Given the description of an element on the screen output the (x, y) to click on. 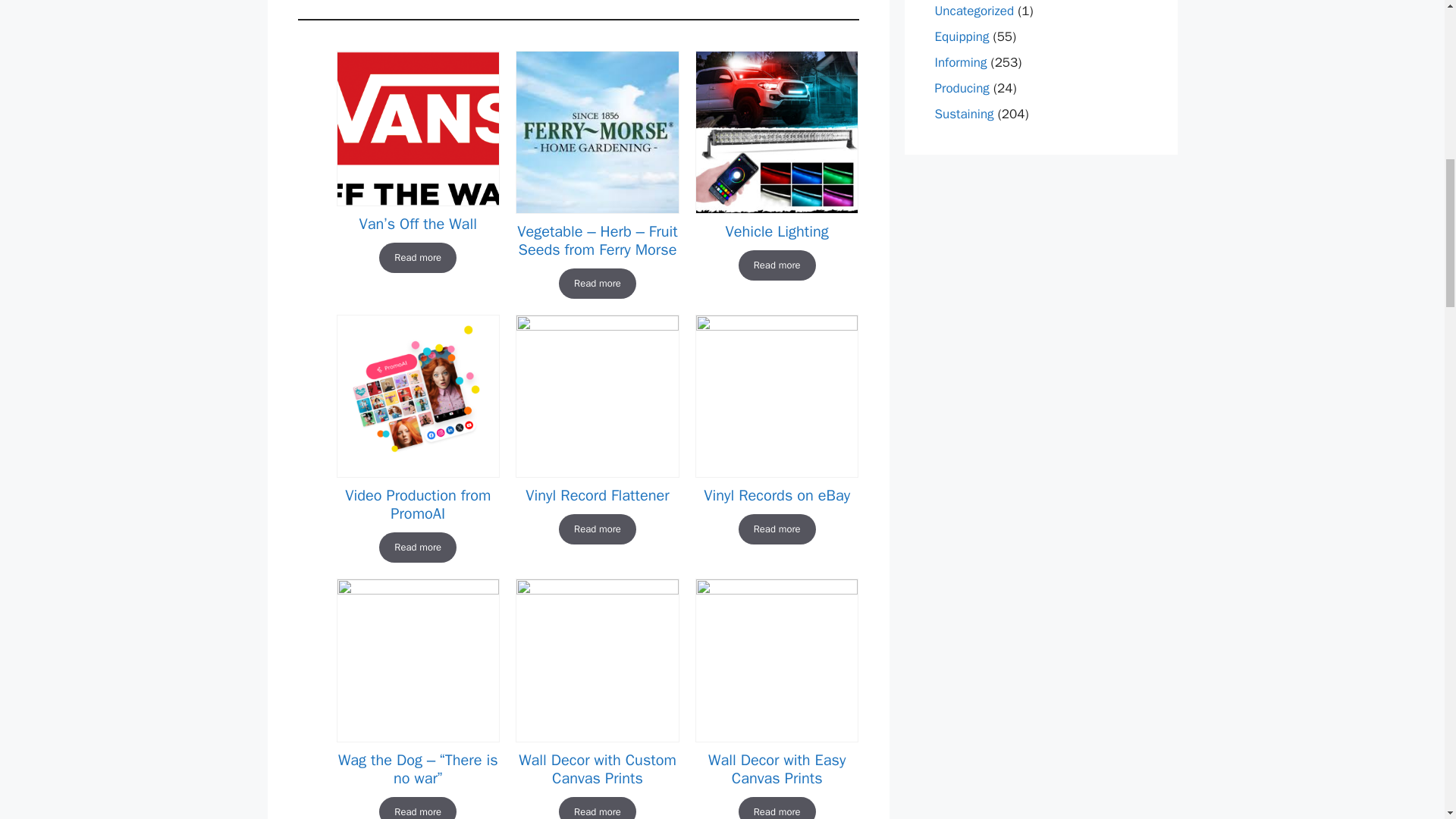
Vehicle Lighting (776, 231)
Read more (776, 265)
Ferry Morse - Logo002 - We Rock Your World! (596, 131)
Vinyl Records on eBay (776, 495)
Video Production from PromoAI (417, 504)
Easy Canvas Prints - Logo001 - We Rock Your World! (777, 660)
Promo - Logo001 - We Rock Your World! (417, 395)
Read more (417, 257)
AuxBeam - Logo1 - We Rock Your World! (777, 131)
Vans-Logo001 - We Rock Your World! (417, 128)
Vinyl Records - Logo001 - We Rock Your World! (777, 395)
Read more (417, 807)
Wag the Dog - Logo001 - We Rock Your World! (417, 660)
Custom Canvas Prints - Logo001 - We Rock Your World! (596, 660)
Read more (597, 283)
